Given the description of an element on the screen output the (x, y) to click on. 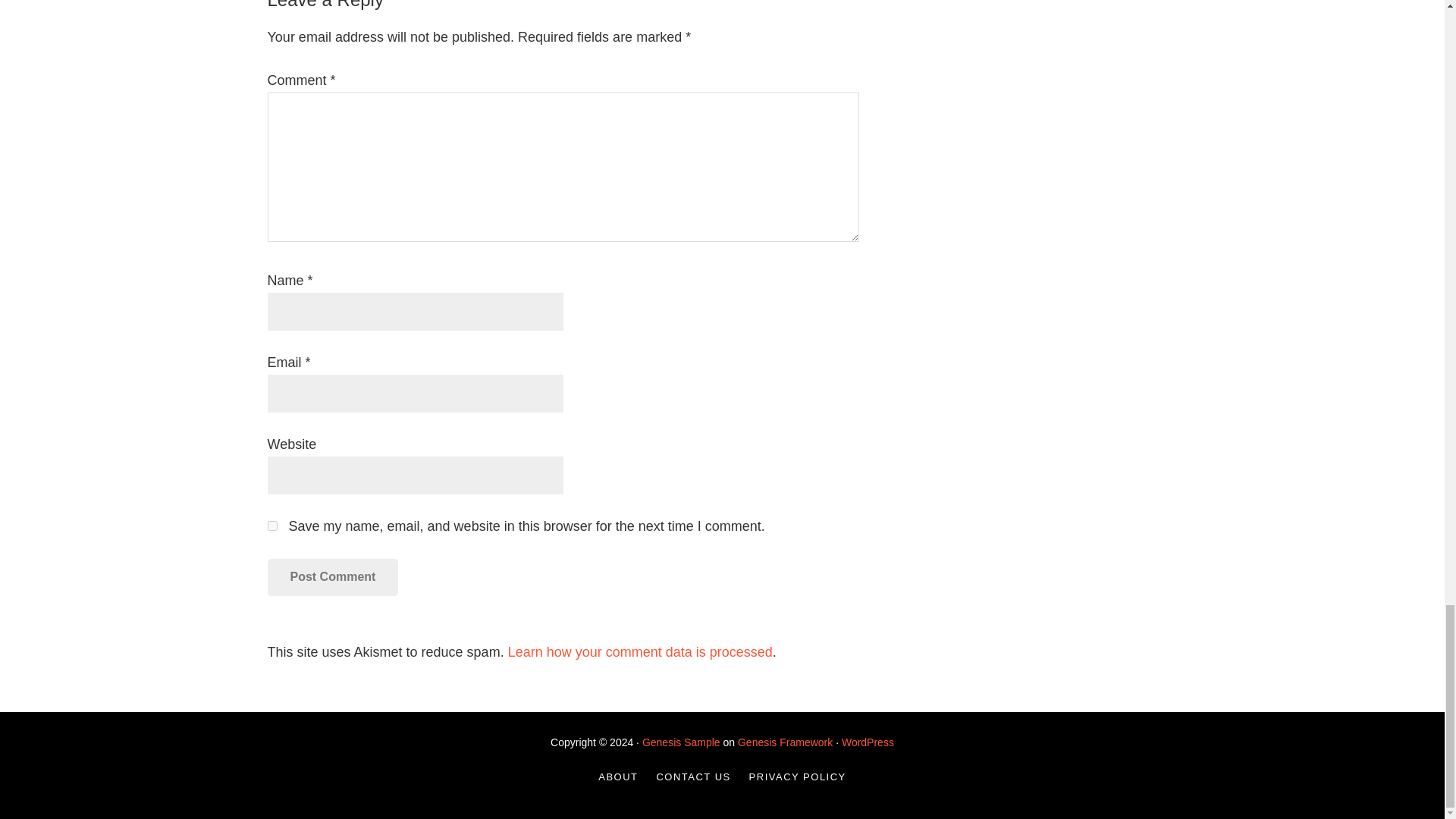
Post Comment (331, 576)
Learn how your comment data is processed (640, 652)
Post Comment (331, 576)
yes (271, 525)
